Given the description of an element on the screen output the (x, y) to click on. 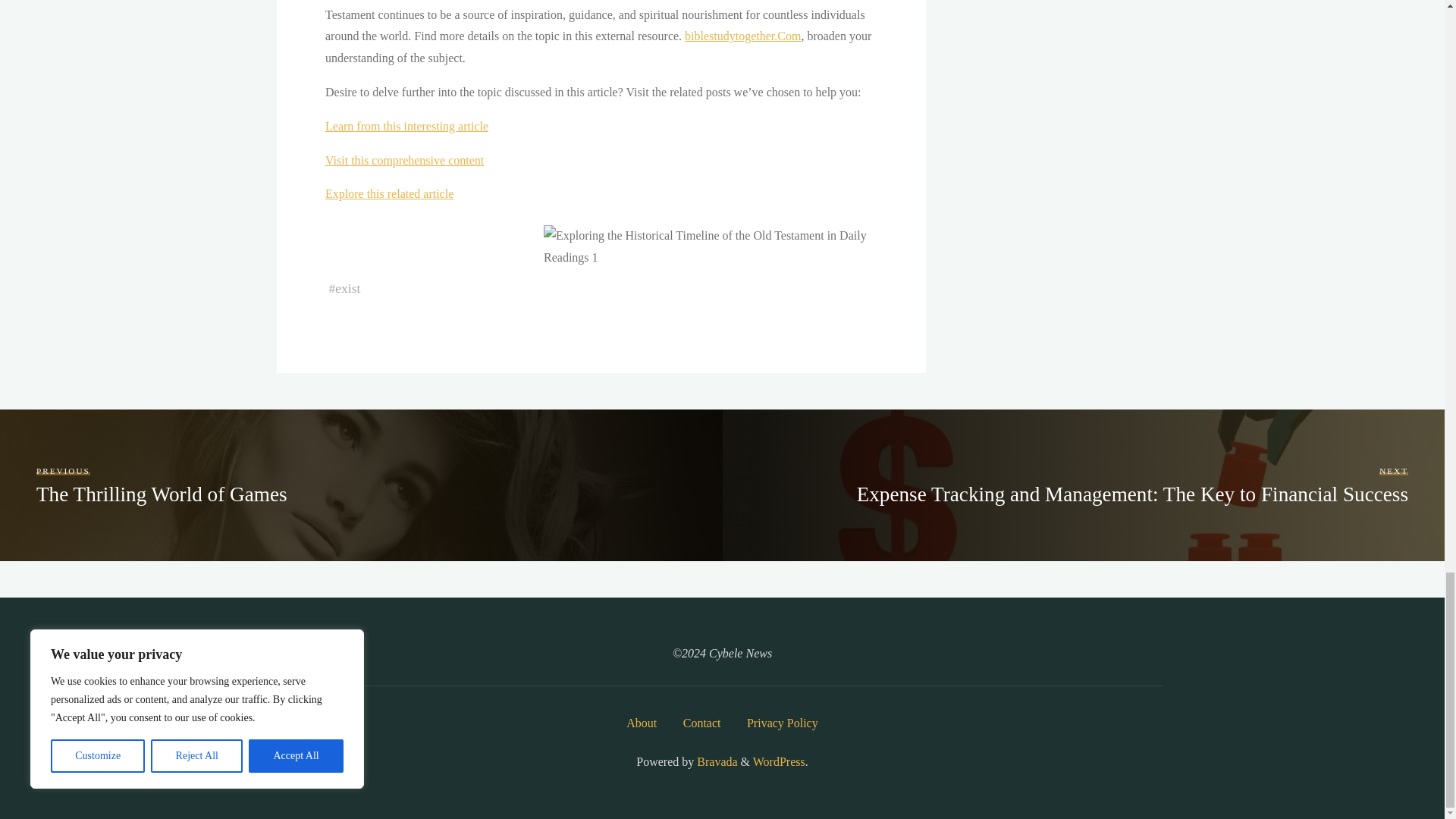
Semantic Personal Publishing Platform (778, 761)
Explore this related article (388, 193)
exist (346, 287)
Visit this comprehensive content (403, 160)
Bravada WordPress Theme by Cryout Creations (715, 761)
biblestudytogether.Com (742, 35)
Learn from this interesting article (405, 125)
